Given the description of an element on the screen output the (x, y) to click on. 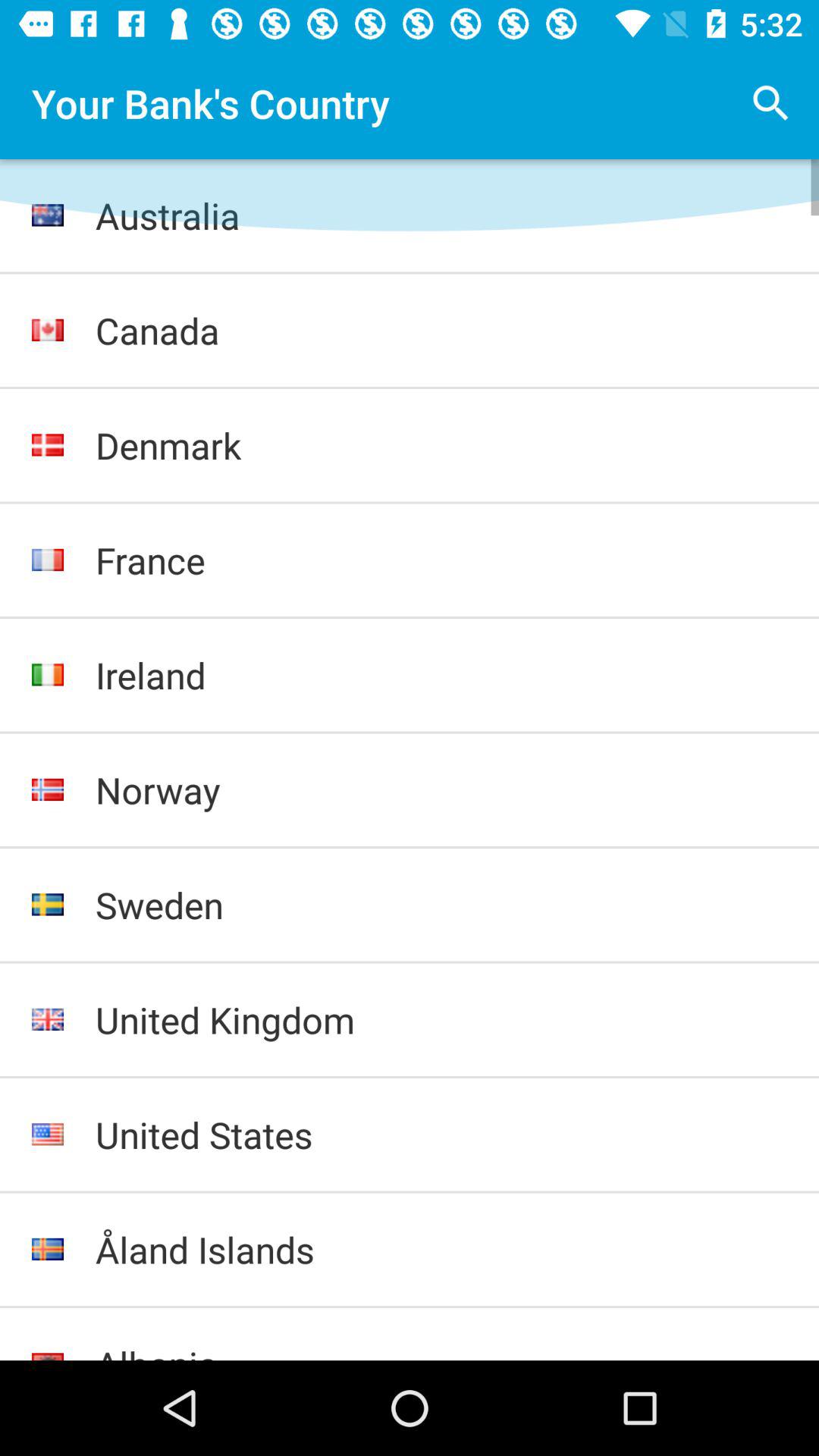
jump until sweden item (441, 904)
